Given the description of an element on the screen output the (x, y) to click on. 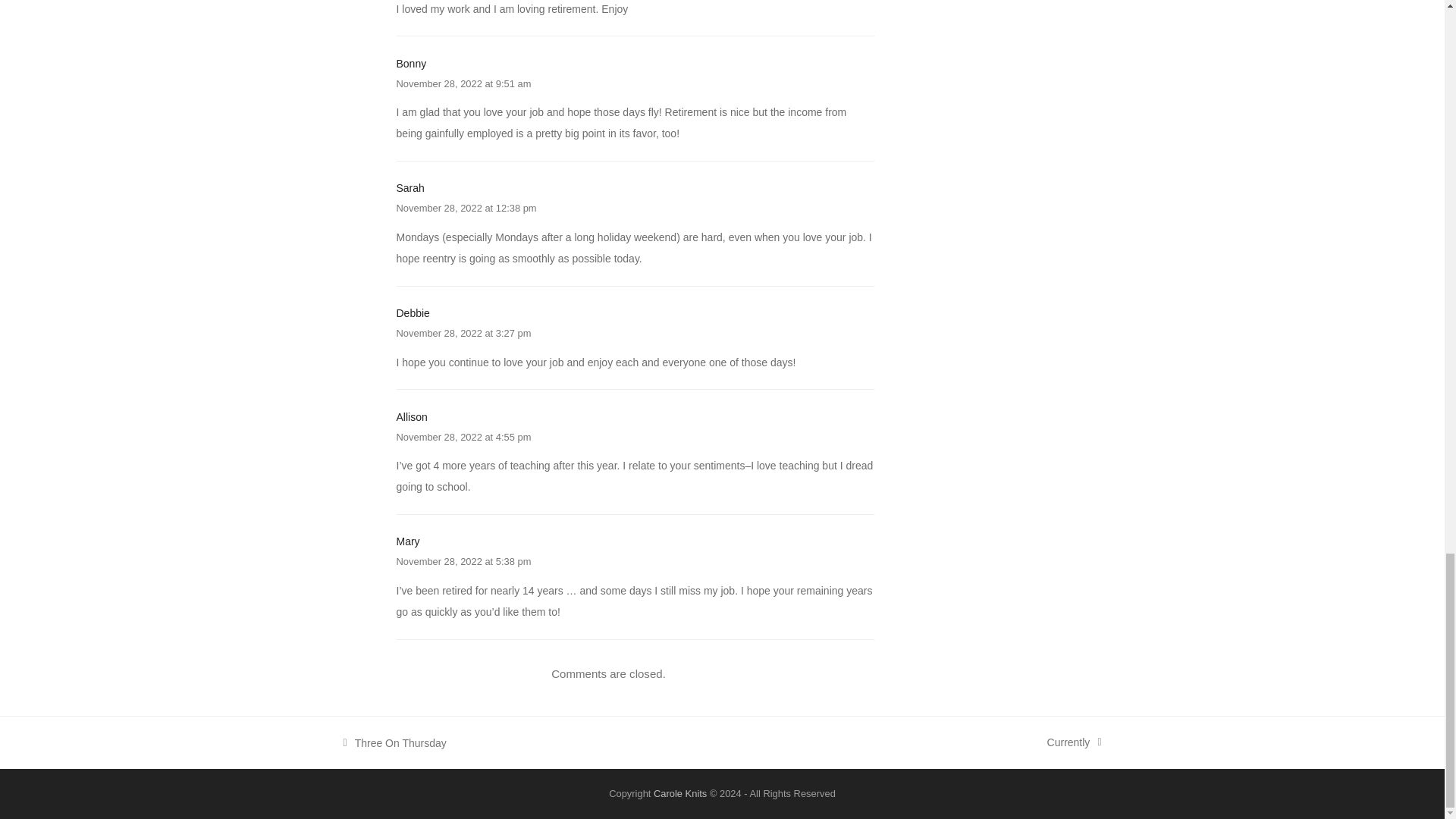
Carole Knits (393, 742)
November 28, 2022 at 5:38 pm (679, 793)
Sarah (1074, 742)
November 28, 2022 at 3:27 pm (463, 561)
November 28, 2022 at 4:55 pm (409, 187)
Allison (463, 333)
Mary (463, 437)
Bonny (411, 417)
November 28, 2022 at 12:38 pm (407, 541)
November 28, 2022 at 9:51 am (411, 63)
